Given the description of an element on the screen output the (x, y) to click on. 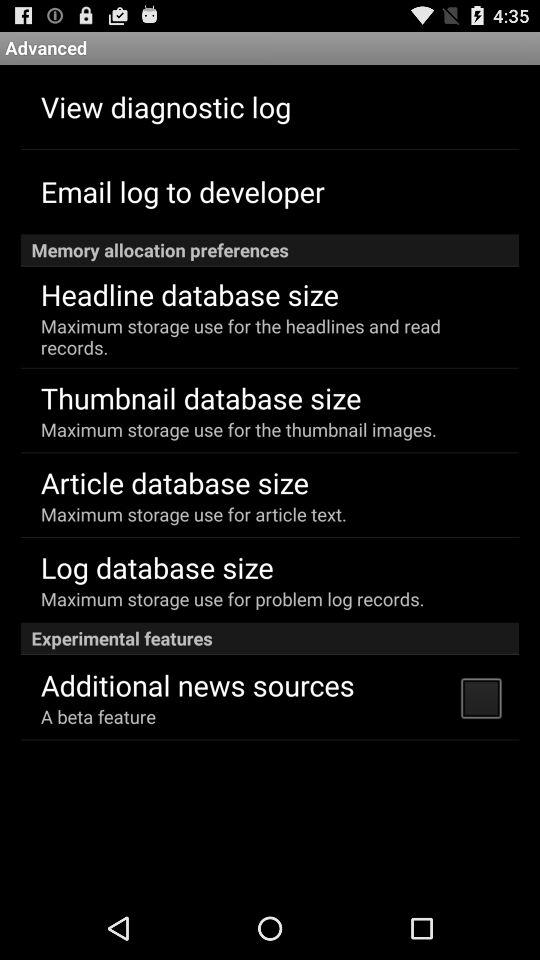
open the app below the additional news sources icon (98, 716)
